Given the description of an element on the screen output the (x, y) to click on. 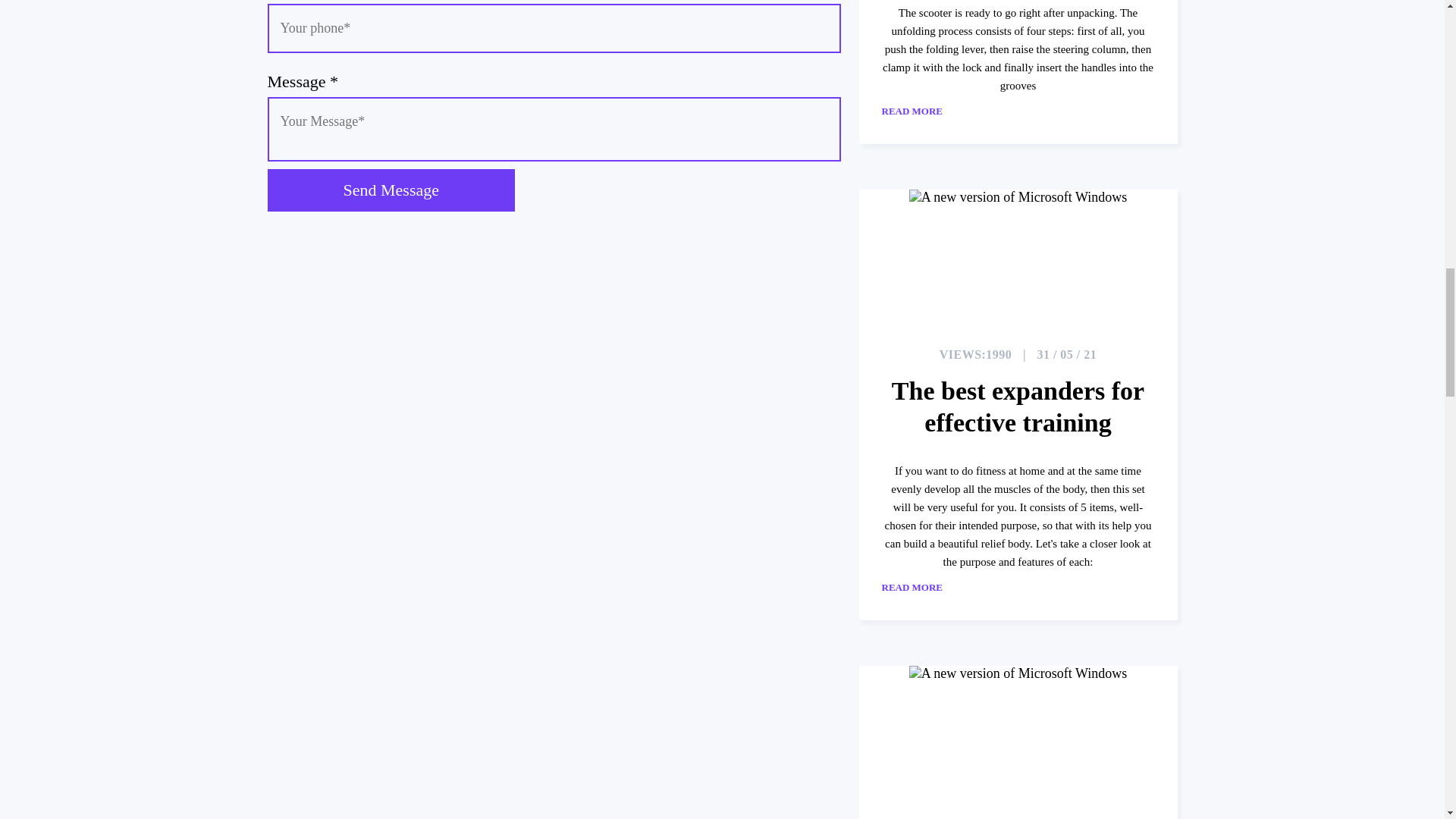
READ MORE (928, 587)
Microsoft will soon introduce a new version of Windows  (1017, 733)
Send Message (389, 189)
Microsoft will soon introduce a new version of Windows  (1017, 257)
READ MORE (928, 111)
The best expanders for effective training (1017, 406)
Only numbers from 0 to 9 (553, 28)
